Given the description of an element on the screen output the (x, y) to click on. 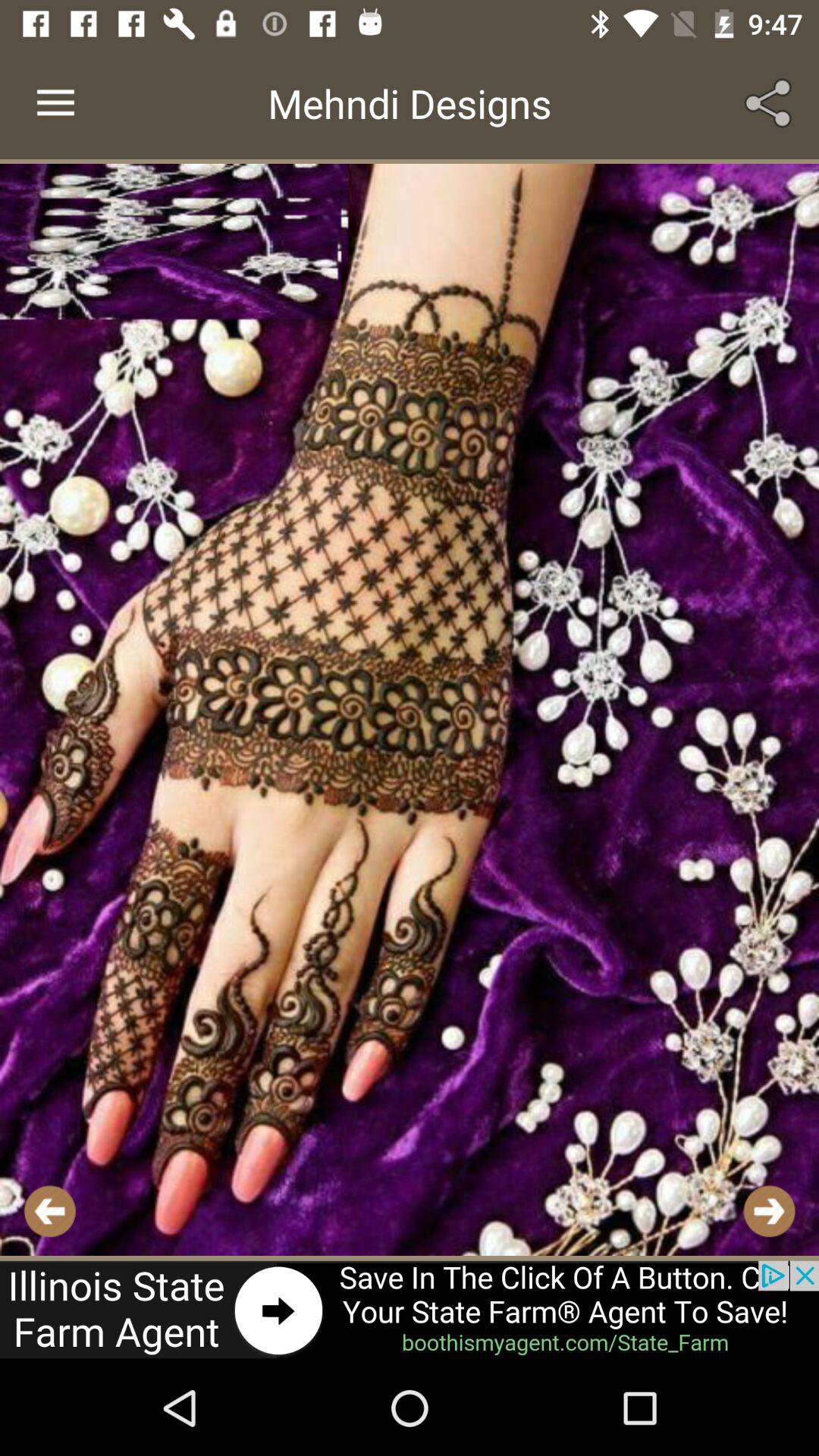
next button (769, 1210)
